Given the description of an element on the screen output the (x, y) to click on. 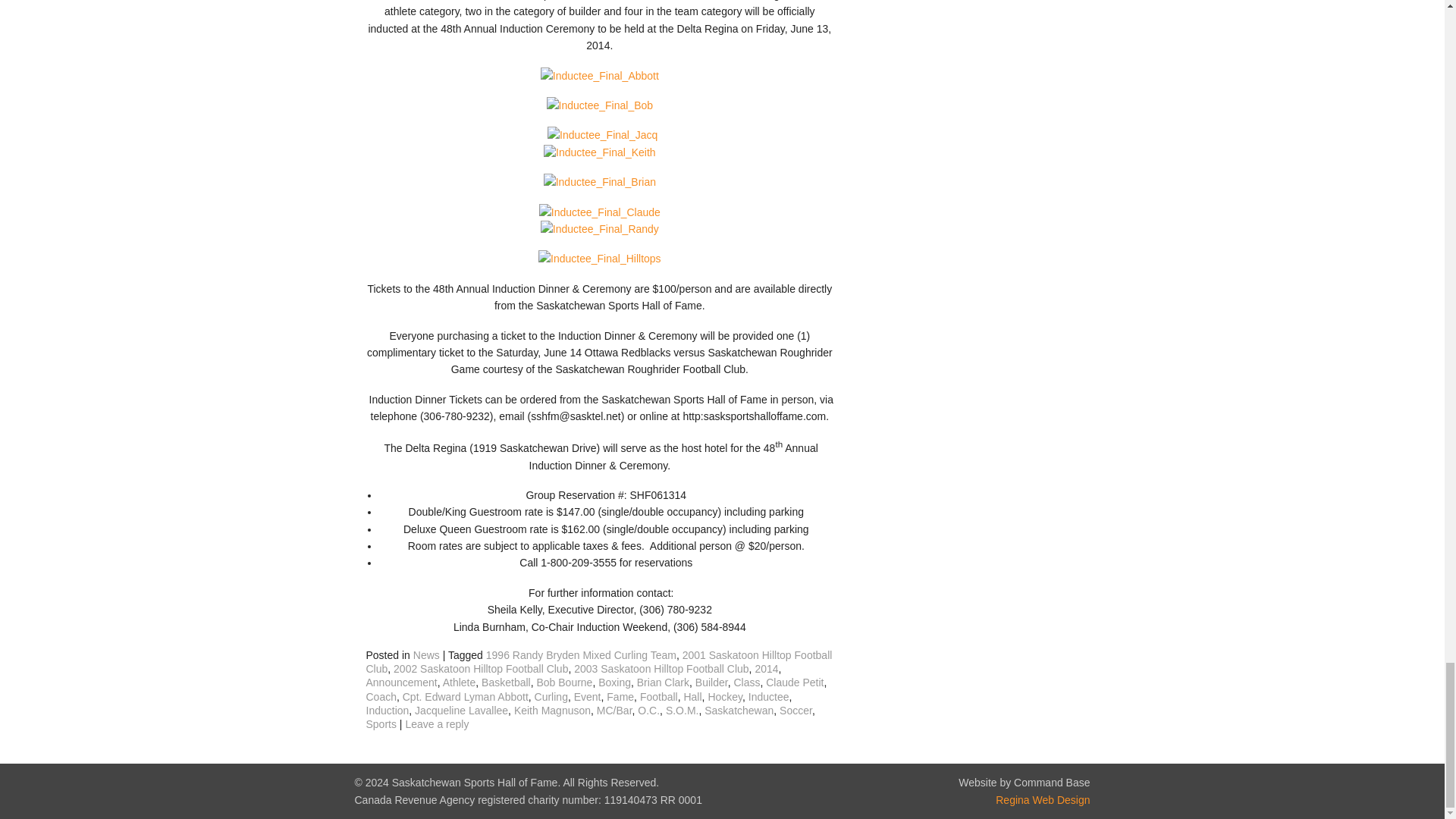
Command Base Creative Design (1023, 782)
Command Base Creative Design (1042, 799)
